Given the description of an element on the screen output the (x, y) to click on. 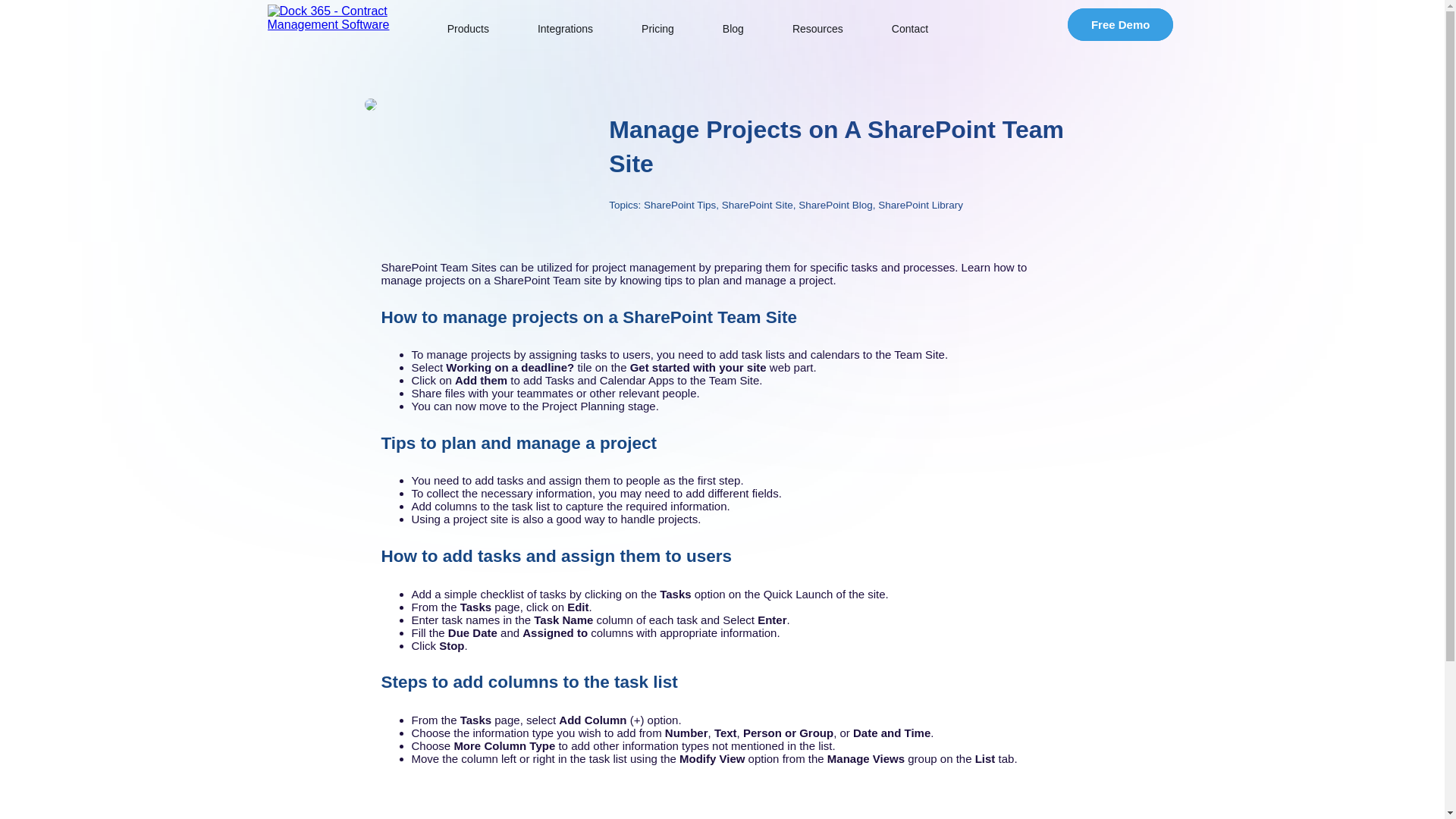
Resources (817, 28)
Free Demo (1120, 24)
Pricing (658, 28)
Products (467, 28)
Dock 365 - Contract Management Software (332, 17)
Integrations (564, 28)
SharePoint Blog (834, 204)
Contact (909, 28)
SharePoint Tips (679, 204)
SharePoint Library (919, 204)
